Given the description of an element on the screen output the (x, y) to click on. 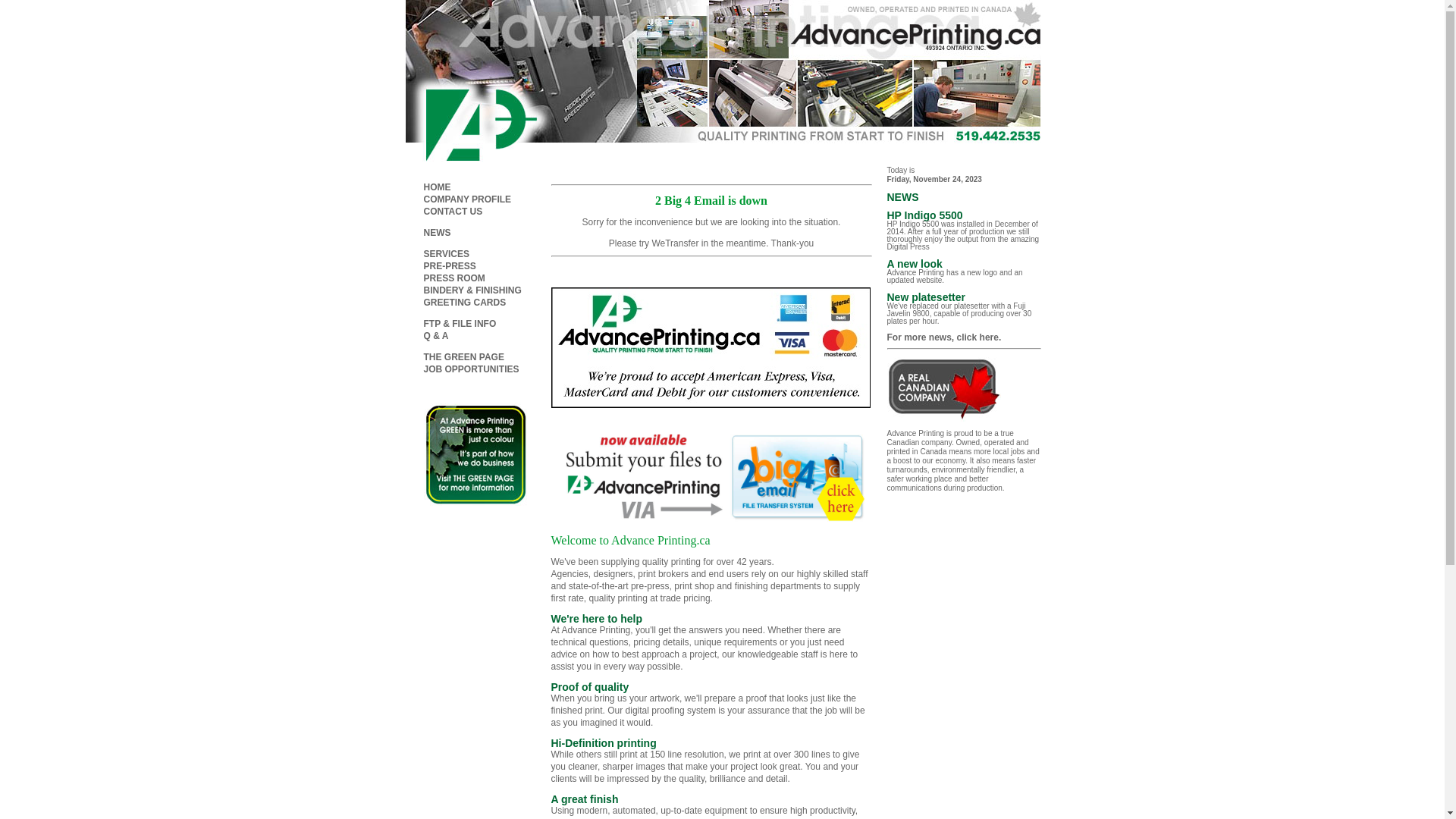
COMPANY PROFILE Element type: text (467, 199)
2b4e Element type: hover (708, 522)
PRE-PRESS Element type: text (449, 265)
BINDERY & FINISHING Element type: text (471, 290)
JOB OPPORTUNITIES Element type: text (470, 369)
For more news, click here. Element type: text (944, 337)
NEWS Element type: text (436, 232)
GREETING CARDS Element type: text (464, 302)
adv_payment_solutions Element type: hover (709, 347)
THE GREEN PAGE Element type: text (463, 356)
SERVICES Element type: text (445, 253)
Q & A Element type: text (435, 335)
CONTACT US Element type: text (452, 211)
HOME Element type: text (436, 187)
2Big4Email Element type: hover (708, 477)
FTP & FILE INFO Element type: text (459, 323)
PRESS ROOM Element type: text (453, 278)
